Given the description of an element on the screen output the (x, y) to click on. 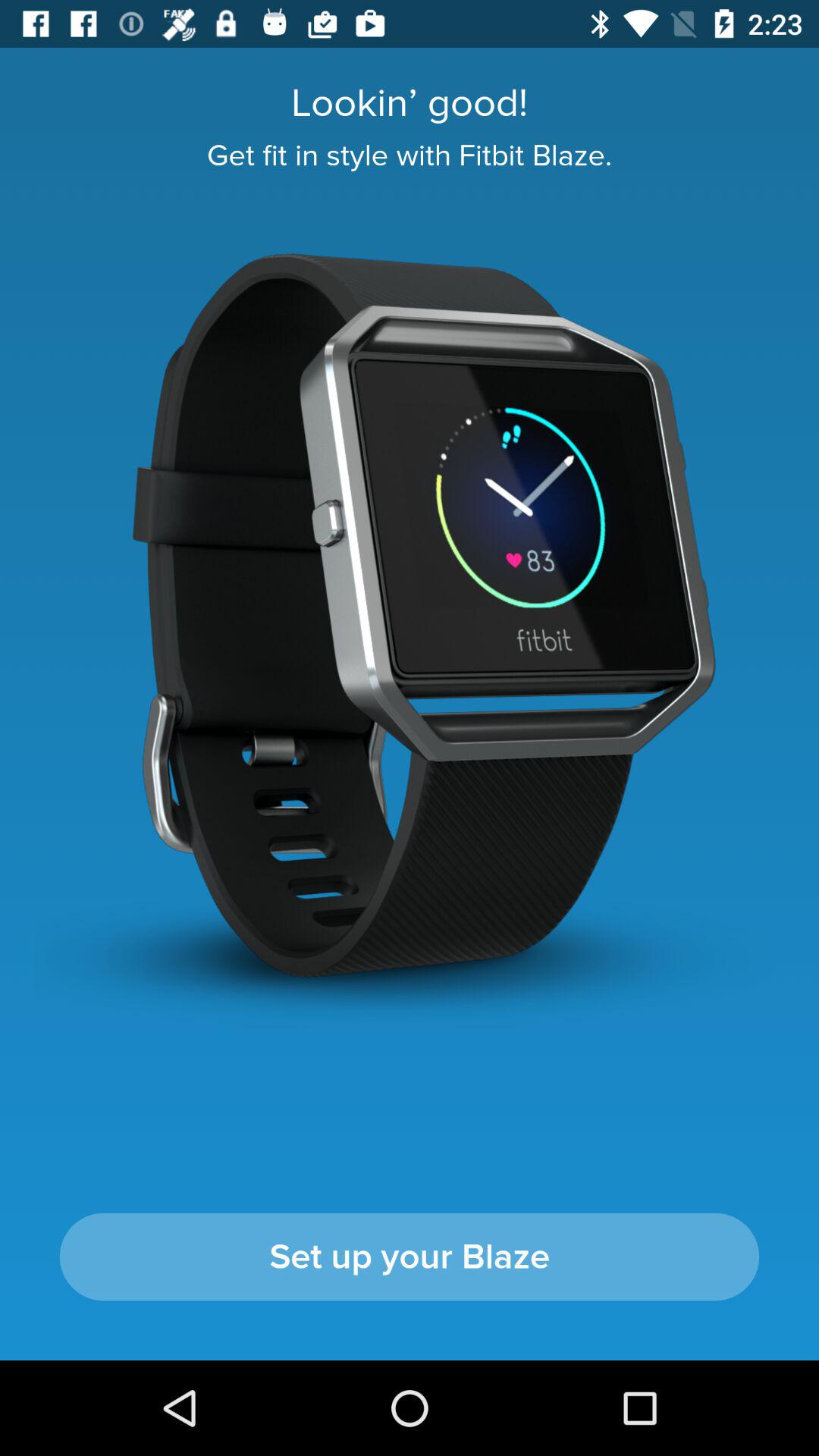
jump until the set up your icon (409, 1256)
